Given the description of an element on the screen output the (x, y) to click on. 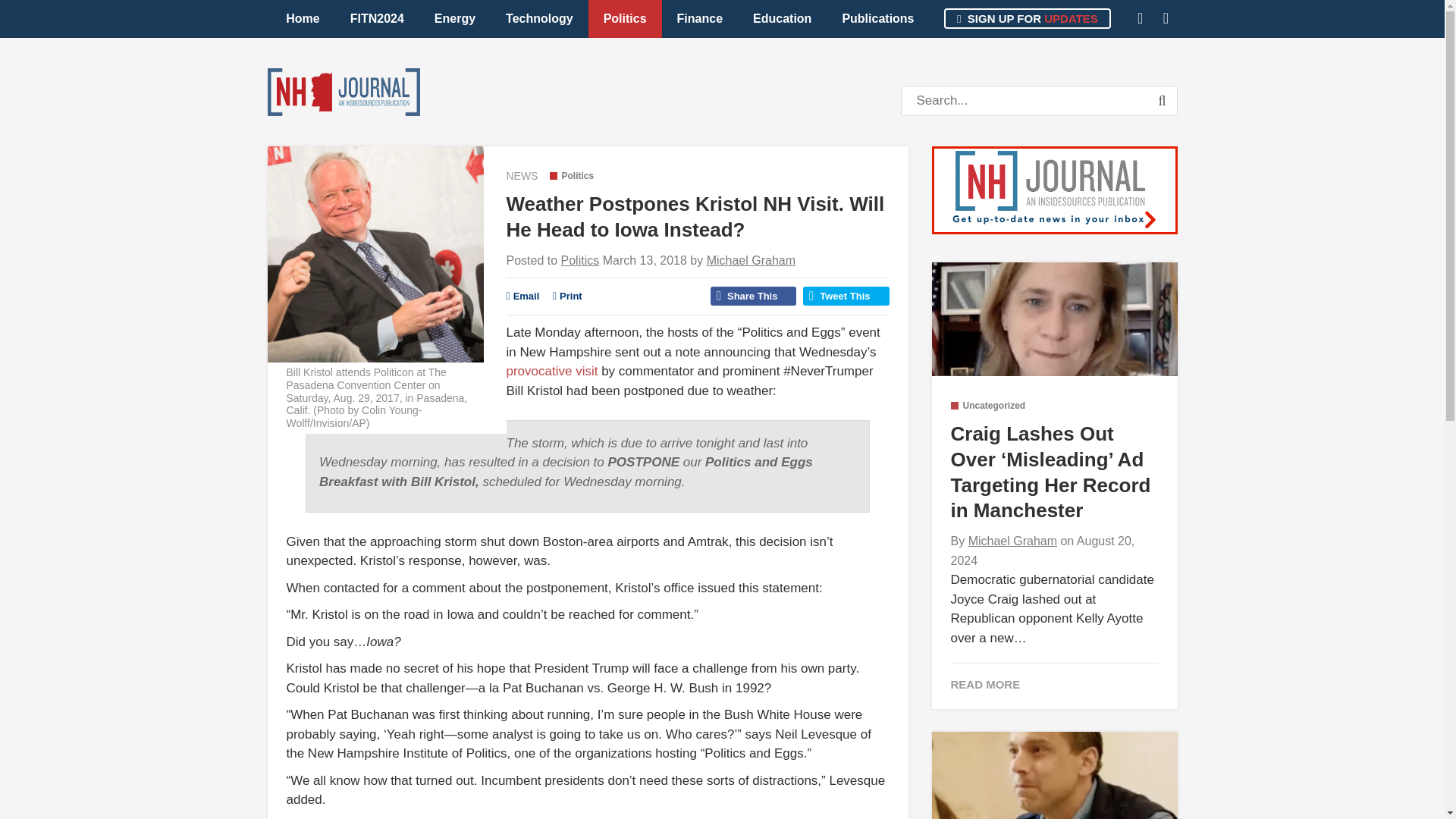
  SIGN UP FOR UPDATES (1026, 18)
Finance (700, 18)
Posts by Michael Graham (750, 259)
View all posts in Politics (571, 175)
Michael Graham (750, 259)
Share This (753, 295)
Email (523, 296)
Technology (539, 18)
View all posts in Uncategorized (988, 405)
Energy (454, 18)
